Given the description of an element on the screen output the (x, y) to click on. 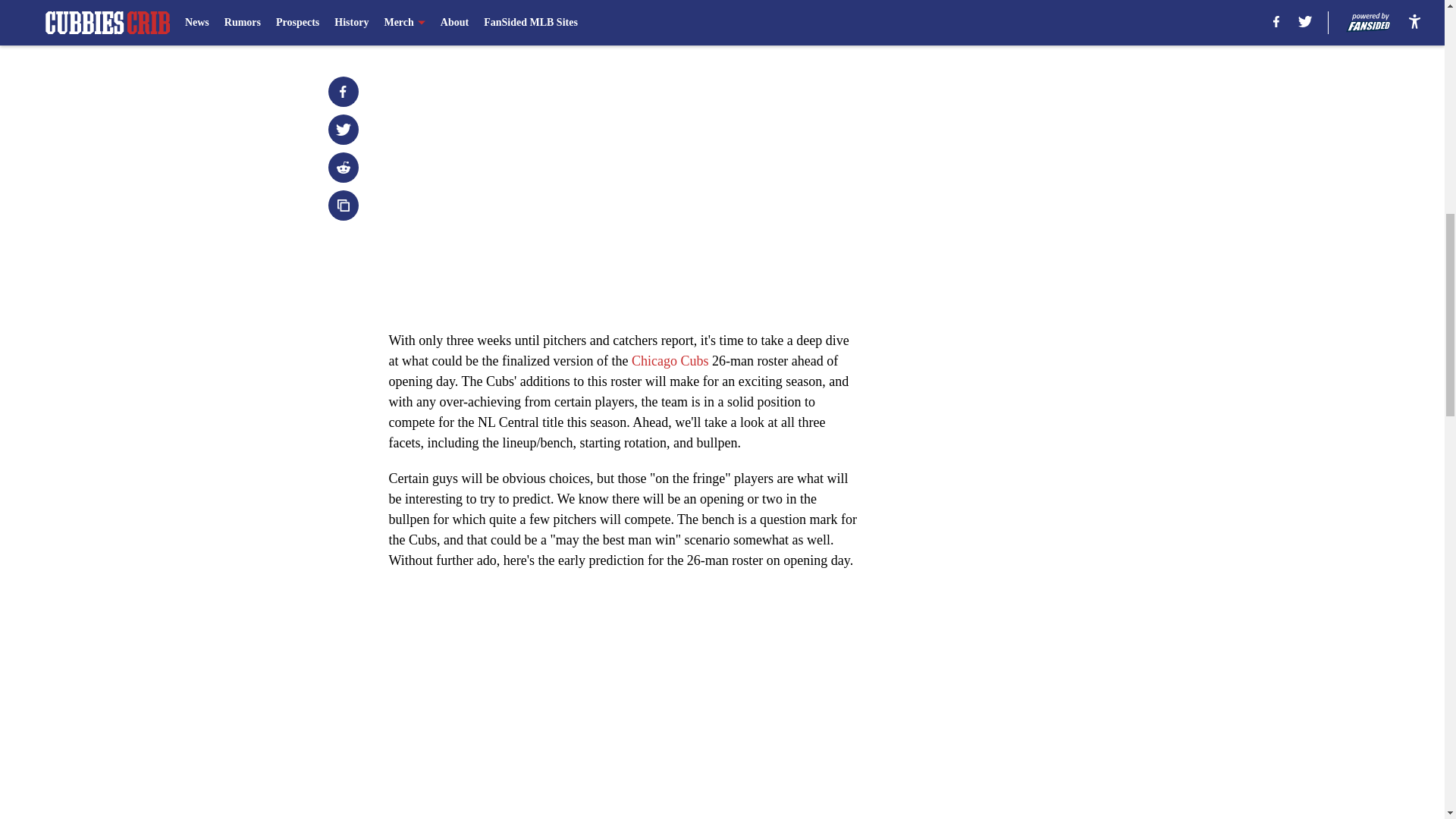
Next (813, 20)
Prev (433, 20)
Chicago Cubs (670, 360)
